Given the description of an element on the screen output the (x, y) to click on. 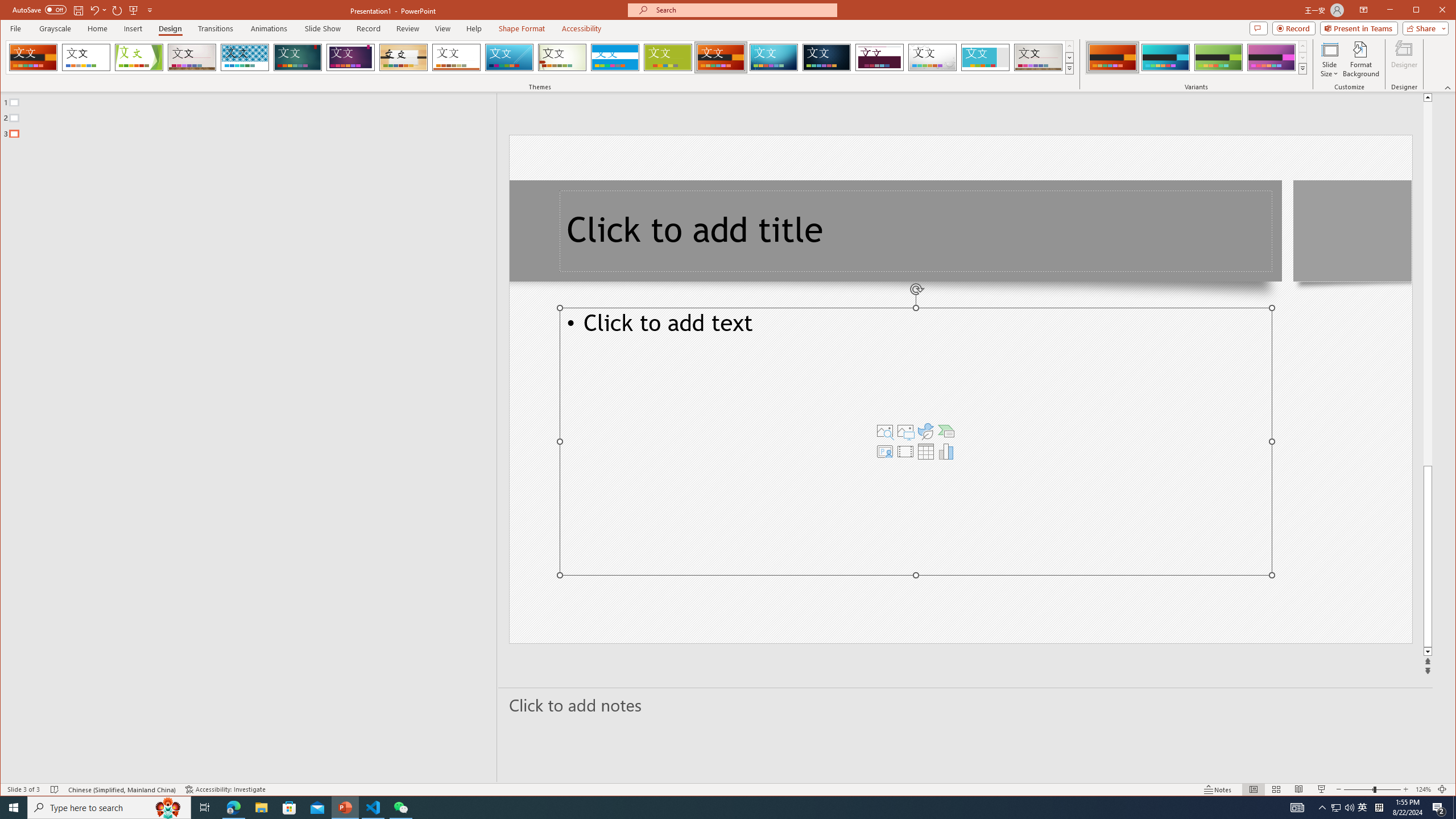
Insert Chart (946, 451)
Frame (985, 57)
Zoom 124% (1422, 789)
Variants (1302, 68)
Berlin Variant 4 (1270, 57)
